Given the description of an element on the screen output the (x, y) to click on. 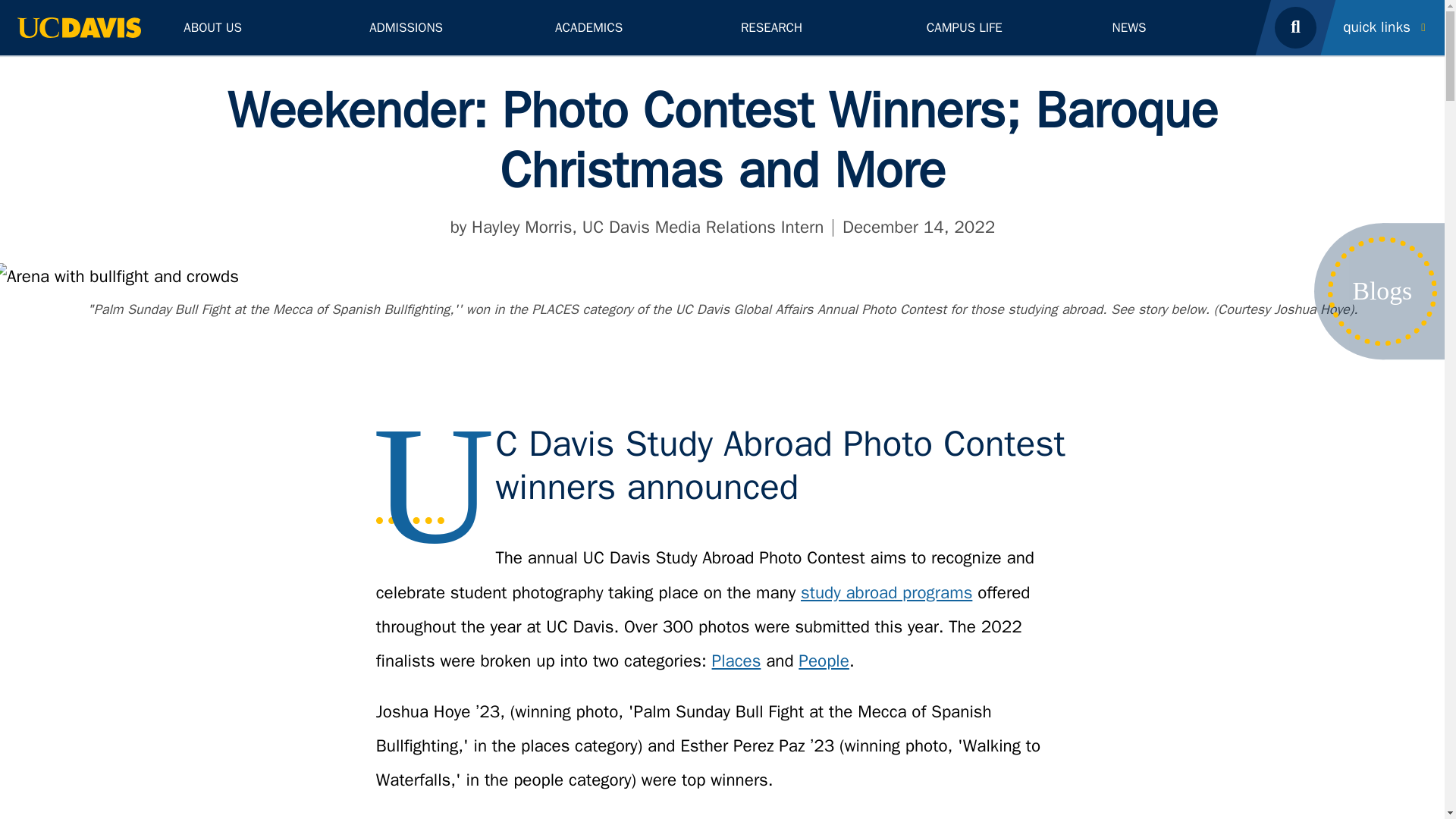
ABOUT US (258, 27)
Wednesday, December 14, 2022 - 2:06pm (918, 228)
